Given the description of an element on the screen output the (x, y) to click on. 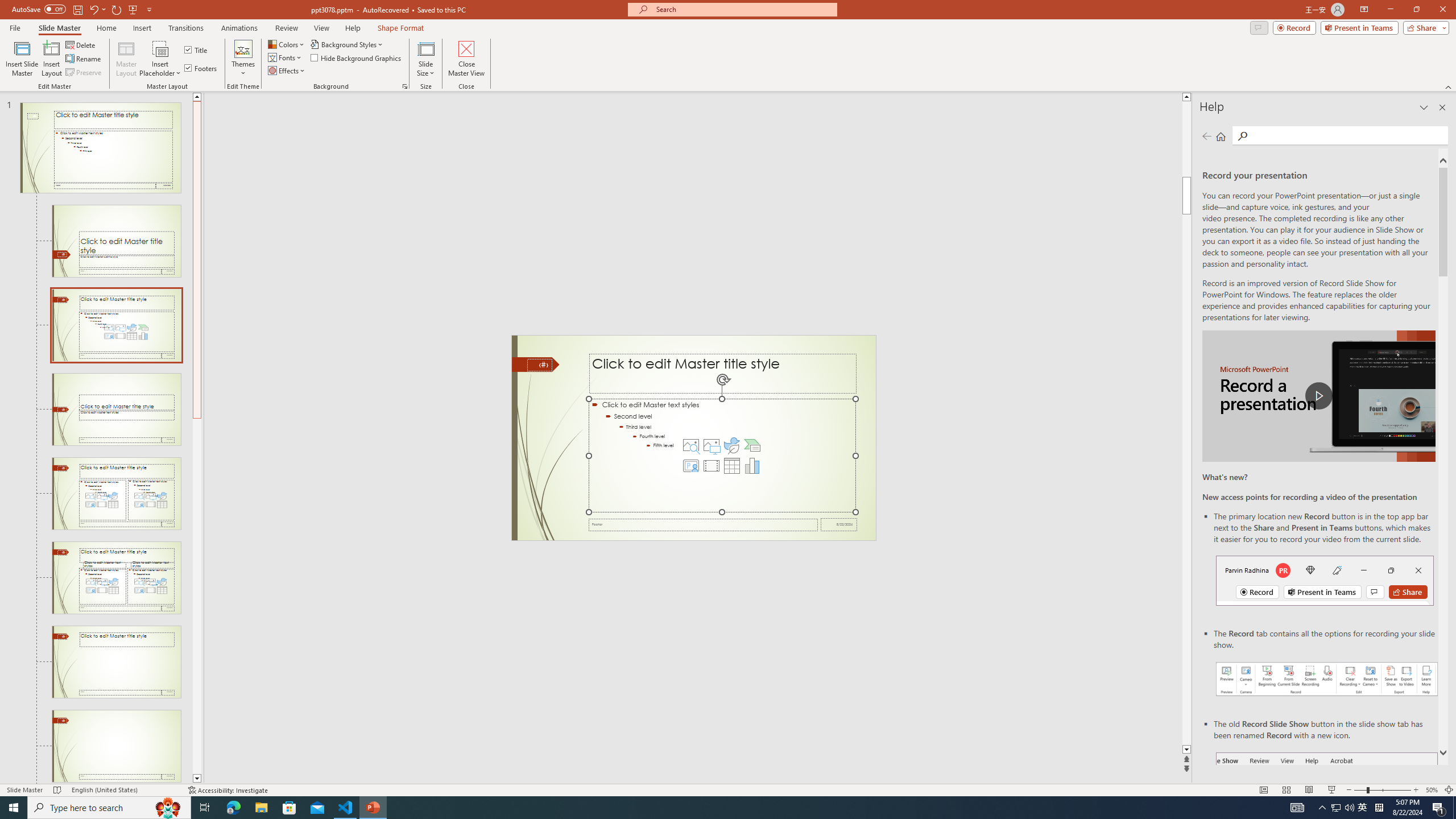
Insert Chart (752, 466)
Rename (84, 58)
Insert Placeholder (160, 58)
Slide Title and Content Layout: used by no slides (116, 325)
Slide Section Header Layout: used by no slides (116, 409)
Slide Two Content Layout: used by no slides (116, 493)
Slide Number (539, 364)
Page down (197, 595)
